Given the description of an element on the screen output the (x, y) to click on. 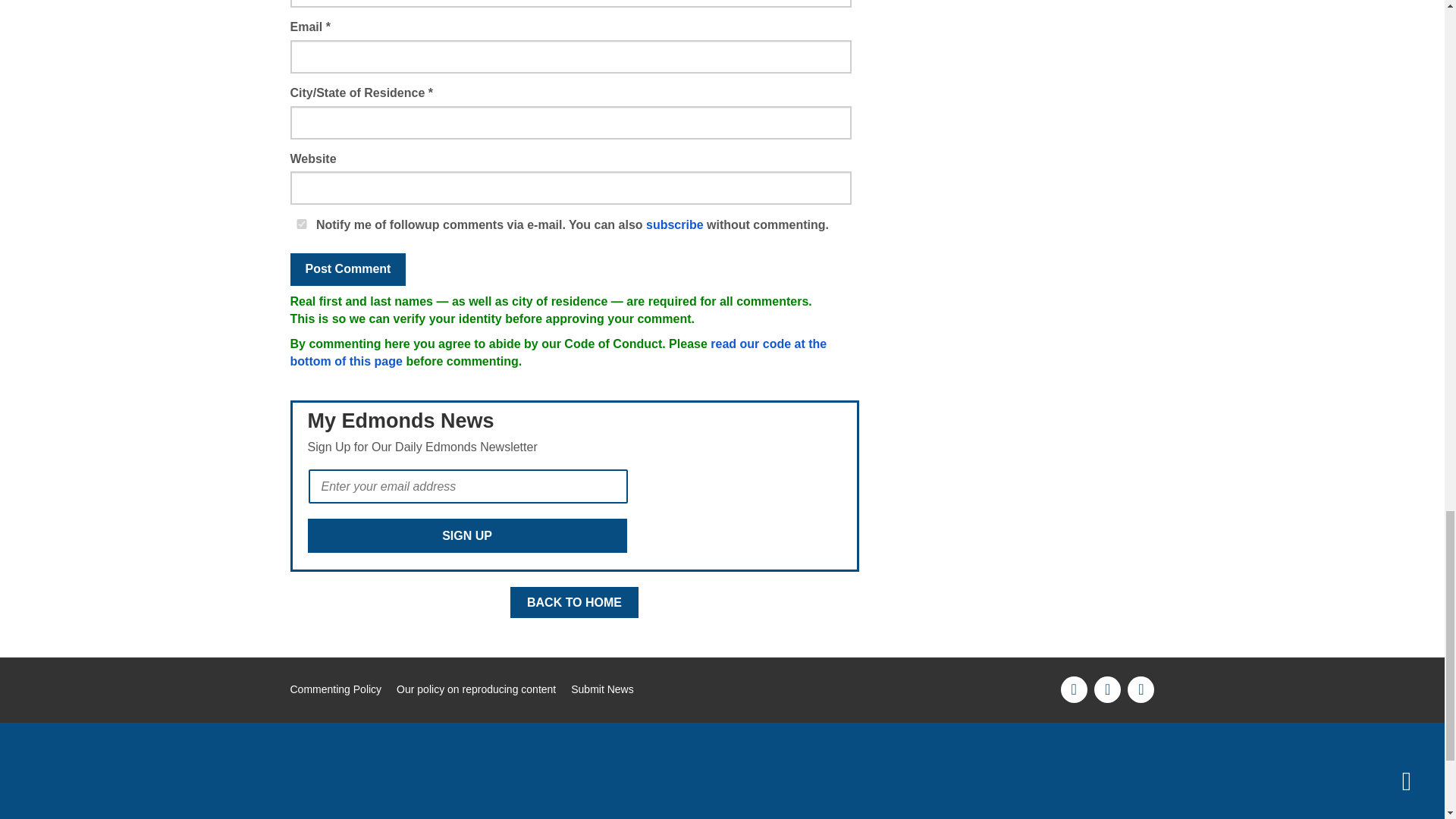
Post Comment (347, 269)
Sign Up (467, 535)
yes (301, 224)
